Given the description of an element on the screen output the (x, y) to click on. 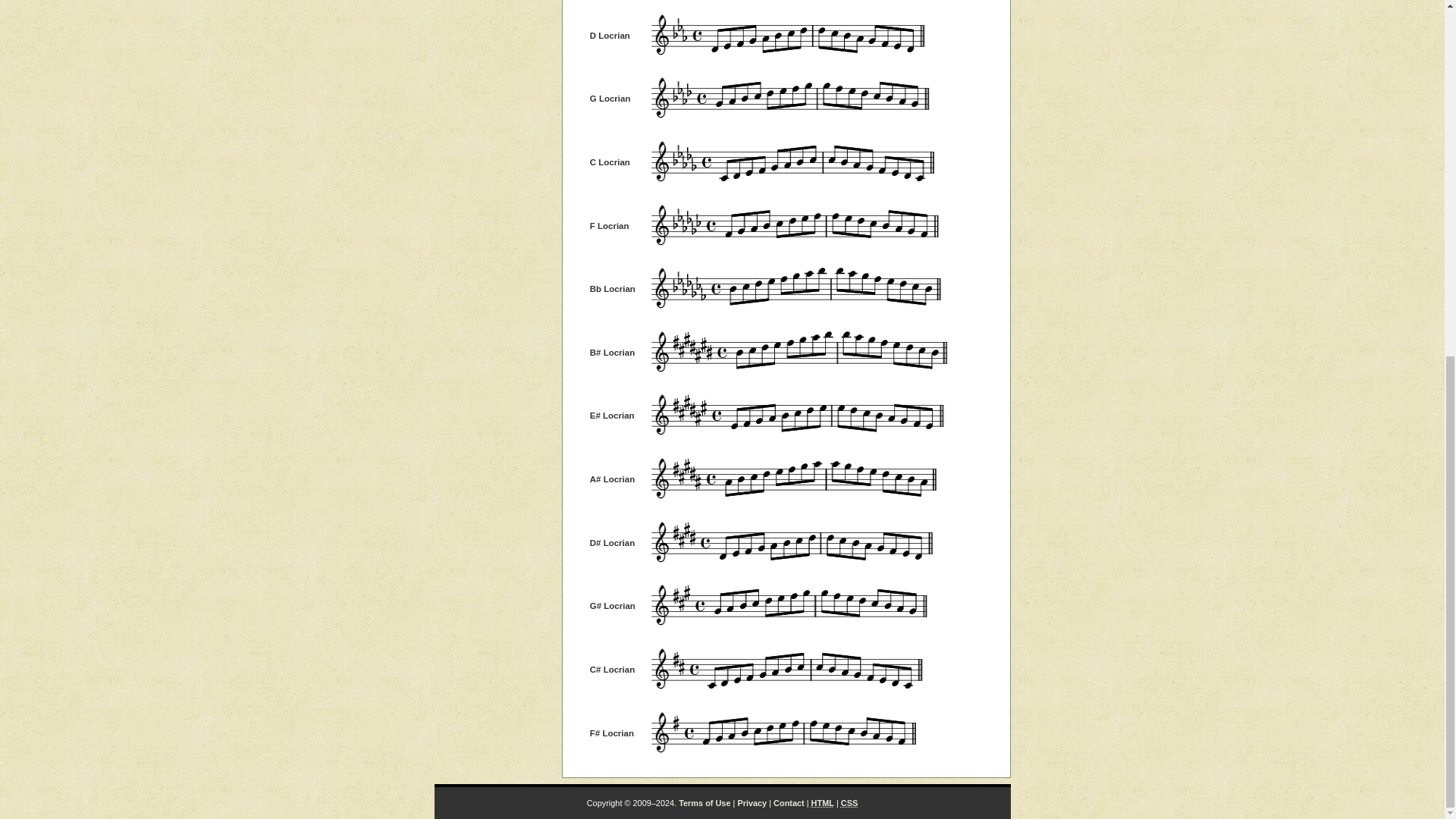
Privacy (751, 802)
HTML (822, 802)
Contact (789, 802)
CSS (849, 802)
This page validates as HTML5 (822, 802)
This page validates as CSS (849, 802)
Terms of Use (704, 802)
